Given the description of an element on the screen output the (x, y) to click on. 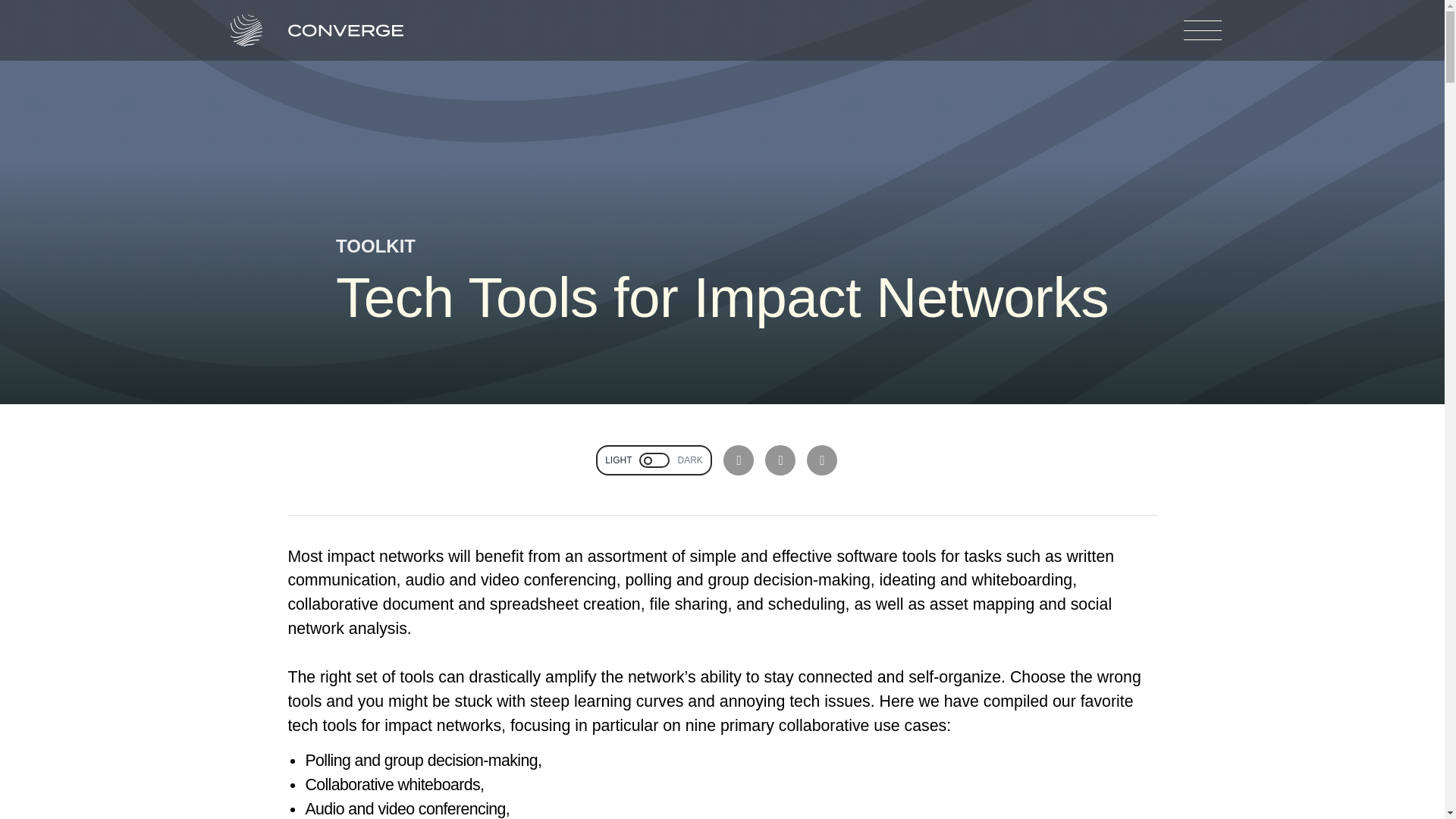
Email (821, 460)
Tweet (738, 460)
Share on LinkedIn (779, 460)
